Given the description of an element on the screen output the (x, y) to click on. 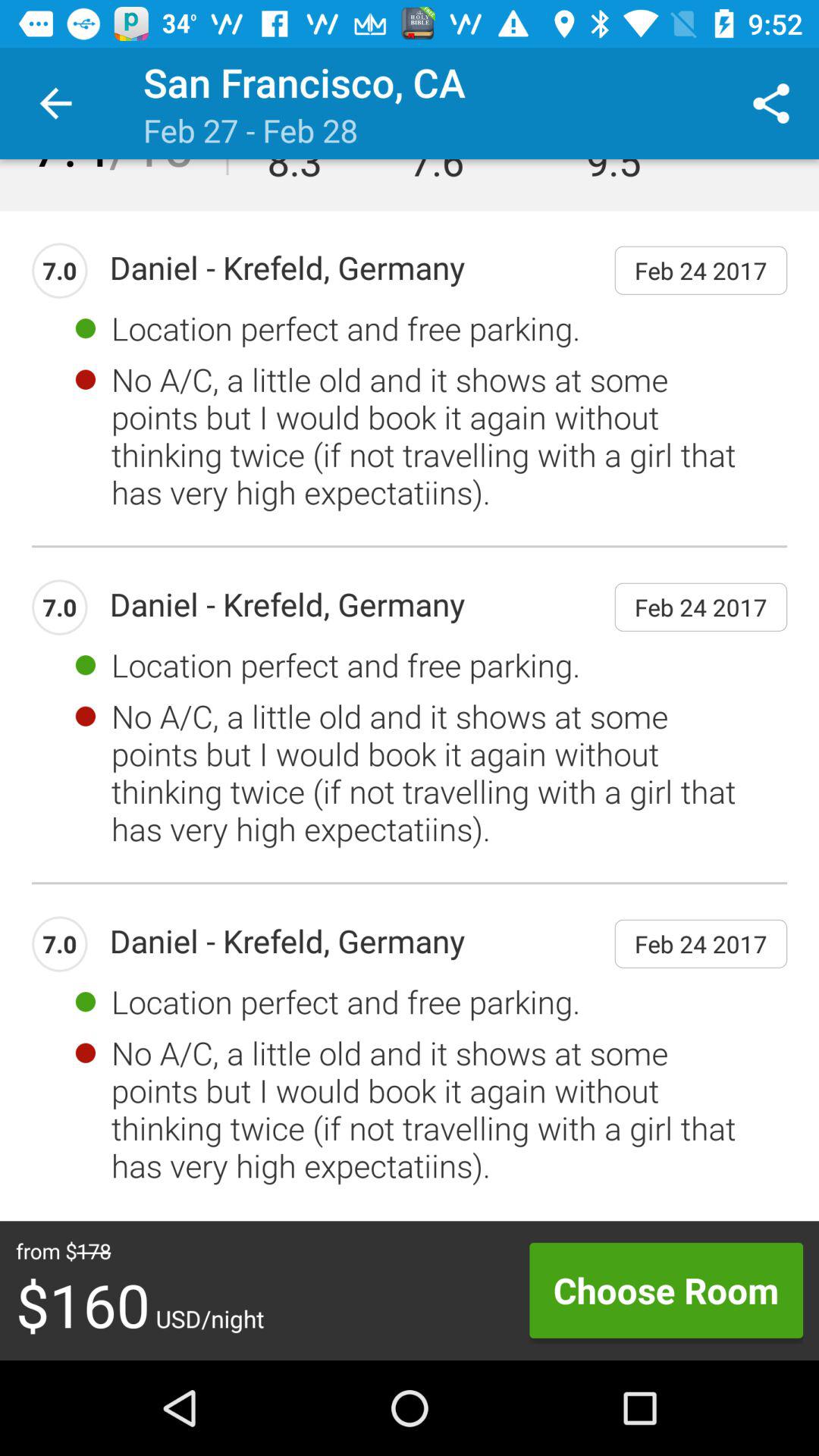
select the option green dot (85, 327)
